Given the description of an element on the screen output the (x, y) to click on. 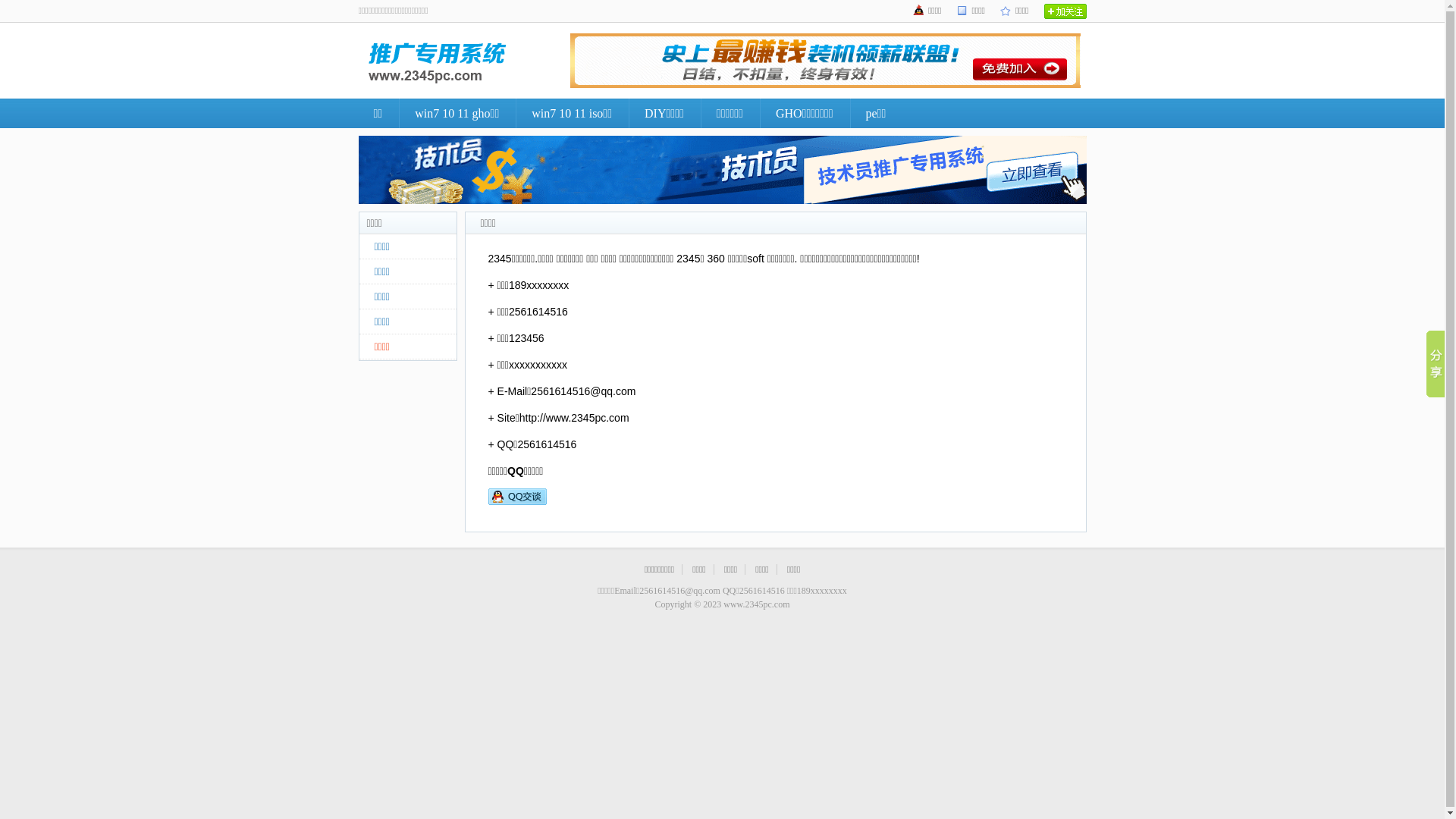
  Element type: text (1064, 10)
